Given the description of an element on the screen output the (x, y) to click on. 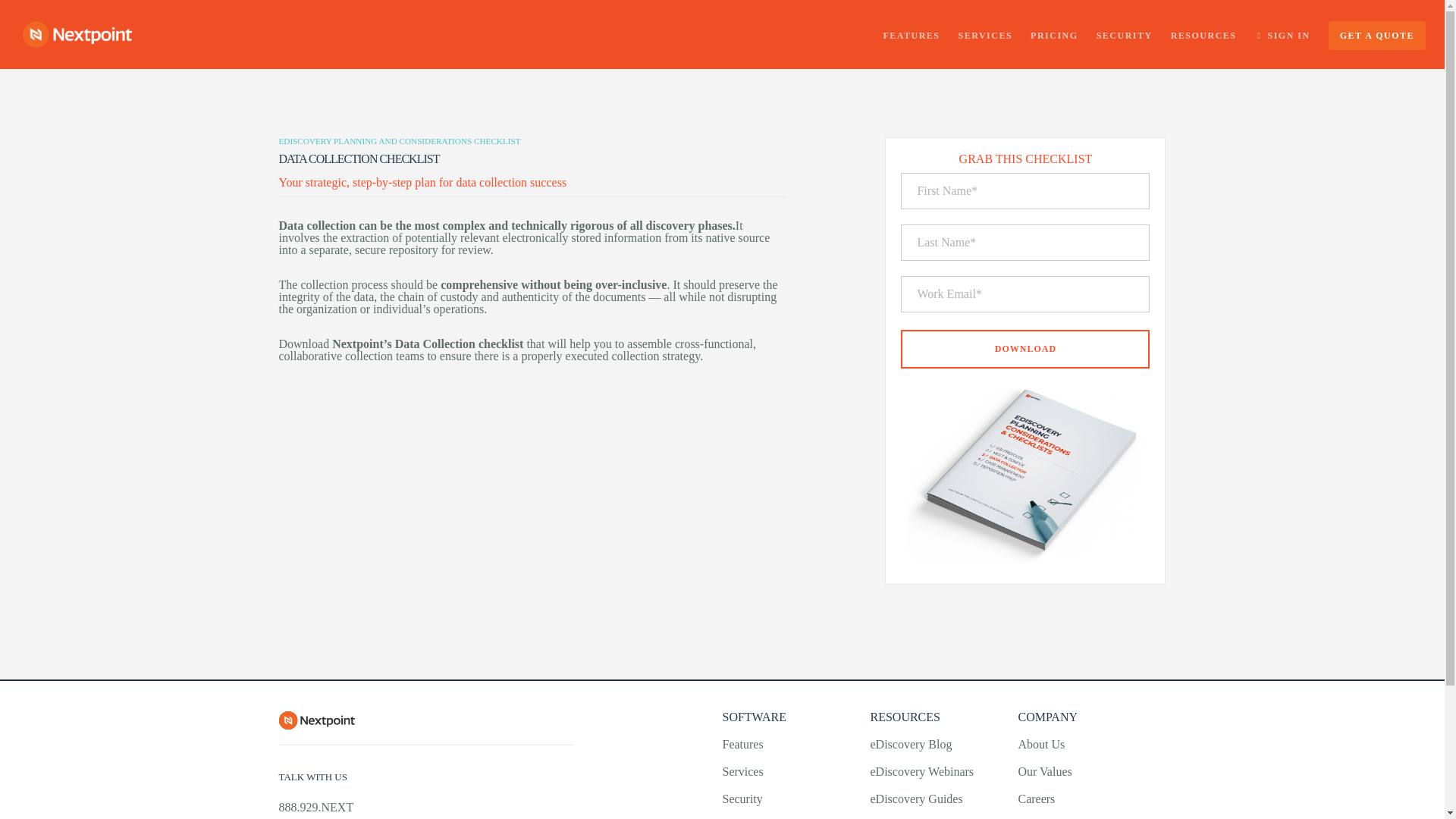
888.929.NEXT (316, 807)
RESOURCES (1194, 33)
DOWNLOAD (1025, 349)
Our Values (1044, 771)
About Us (1040, 744)
GET A QUOTE (1367, 33)
FEATURES (901, 33)
Features (742, 744)
SERVICES (976, 33)
eDiscovery Blog (910, 744)
